Given the description of an element on the screen output the (x, y) to click on. 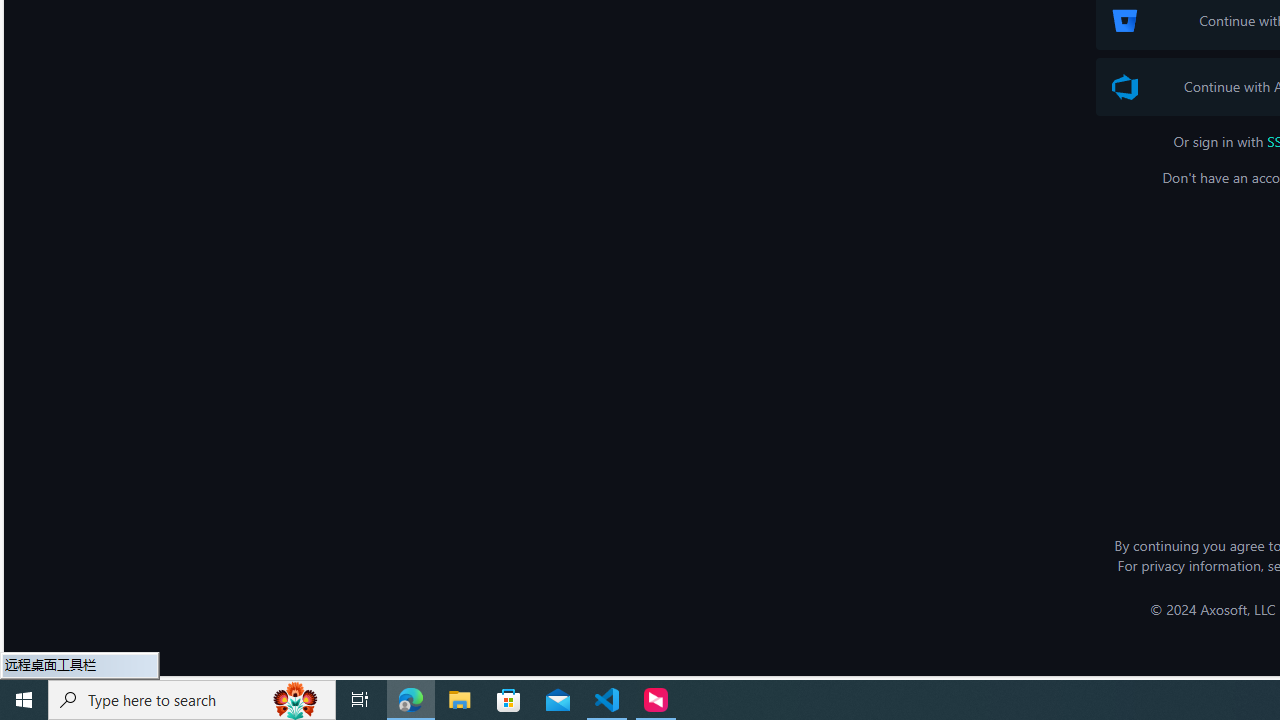
Azure DevOps Logo (1124, 87)
Bitbucket Logo (1124, 20)
